Given the description of an element on the screen output the (x, y) to click on. 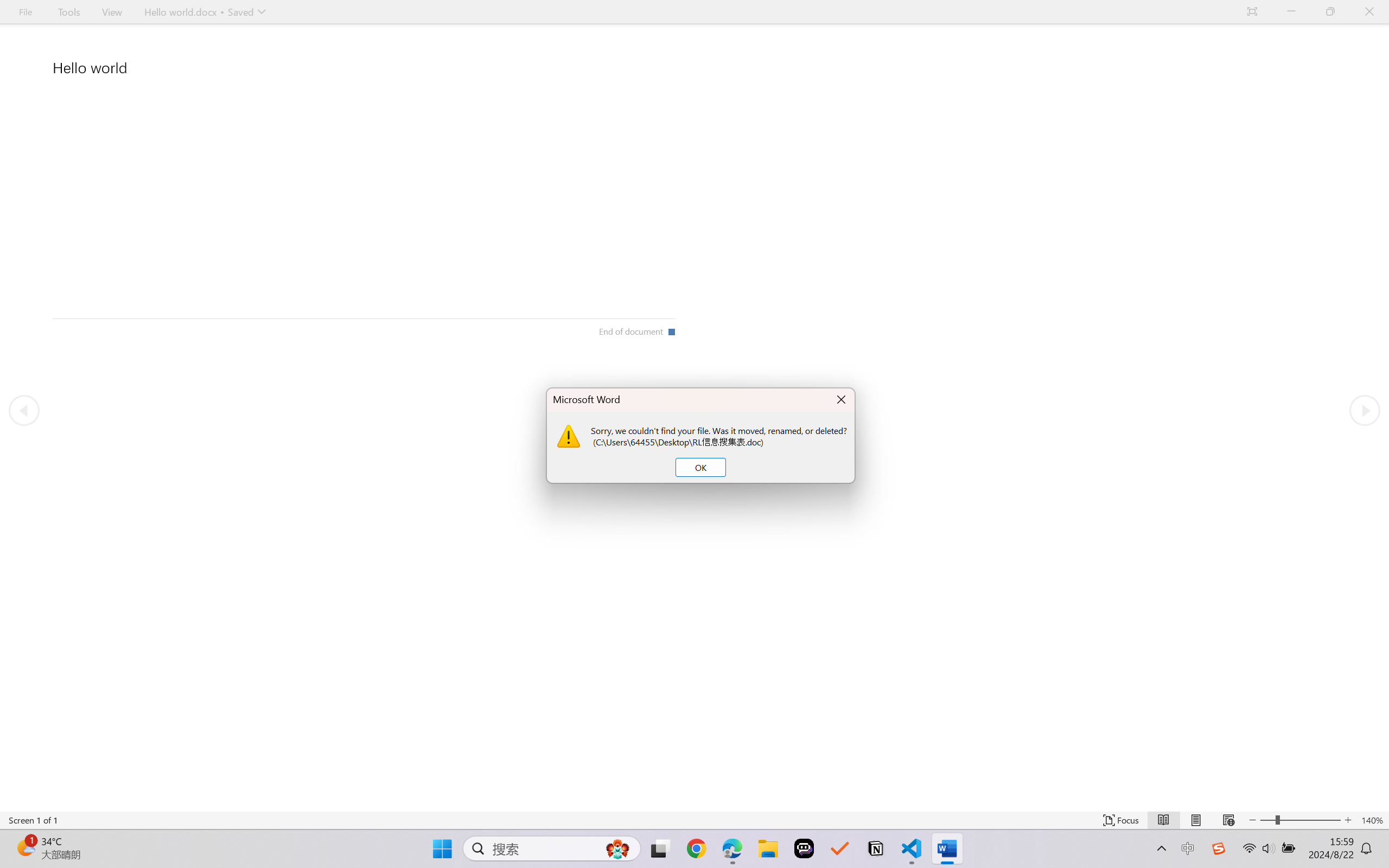
Tools (69, 11)
Web Layout (1228, 819)
Restore Down (1330, 11)
Focus  (1121, 819)
Class: MsoCommandBar (694, 819)
Class: Image (1218, 847)
Google Chrome (696, 848)
Page Number Screen 1 of 1  (32, 819)
Zoom In (1310, 819)
Auto-hide Reading Toolbar (1252, 11)
Class: NetUIScrollBar (694, 803)
